Given the description of an element on the screen output the (x, y) to click on. 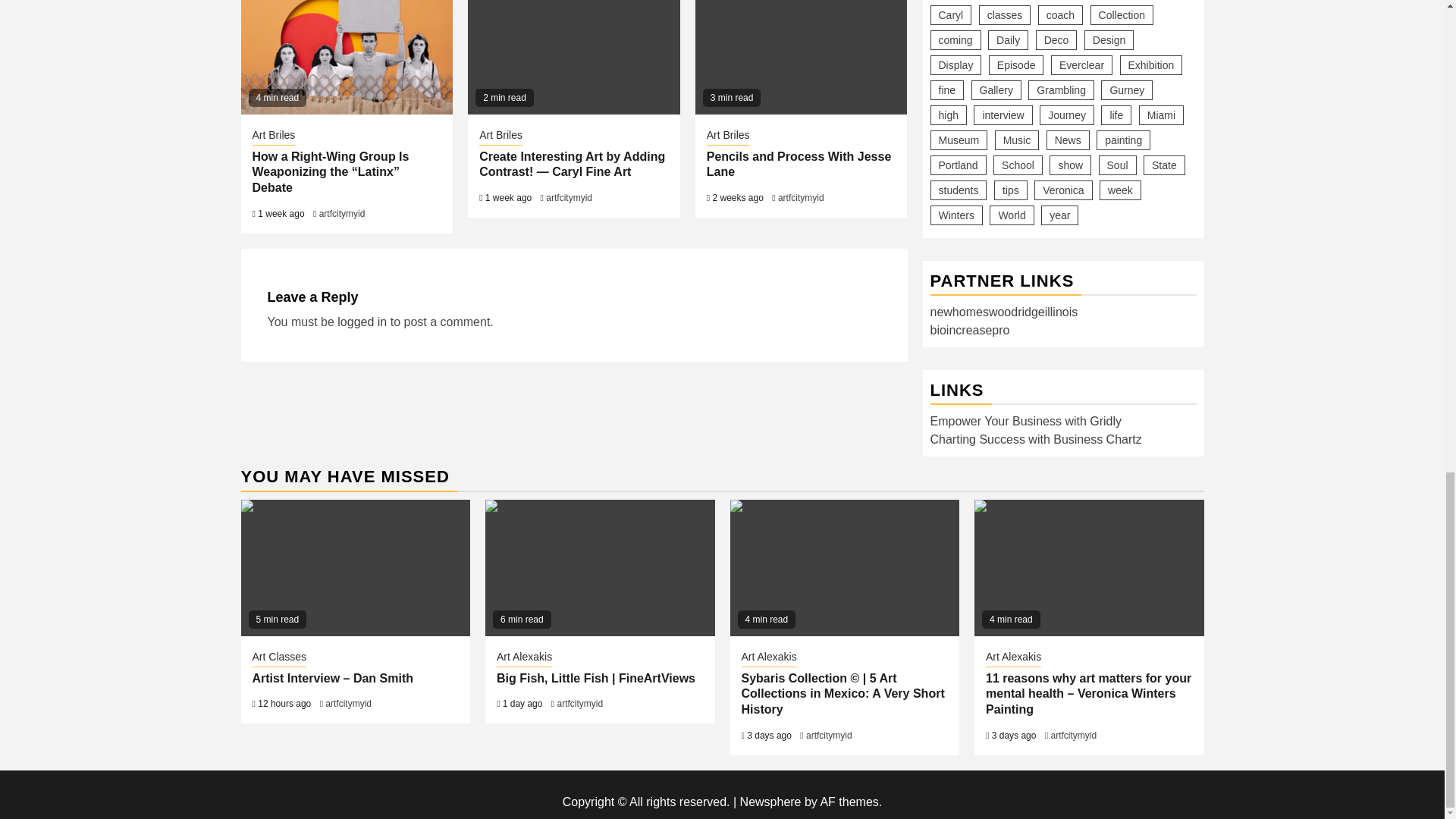
artfcitymyid (569, 197)
Art Briles (727, 136)
Art Briles (500, 136)
Art Briles (273, 136)
Pencils and Process With Jesse Lane (801, 57)
artfcitymyid (341, 213)
